Given the description of an element on the screen output the (x, y) to click on. 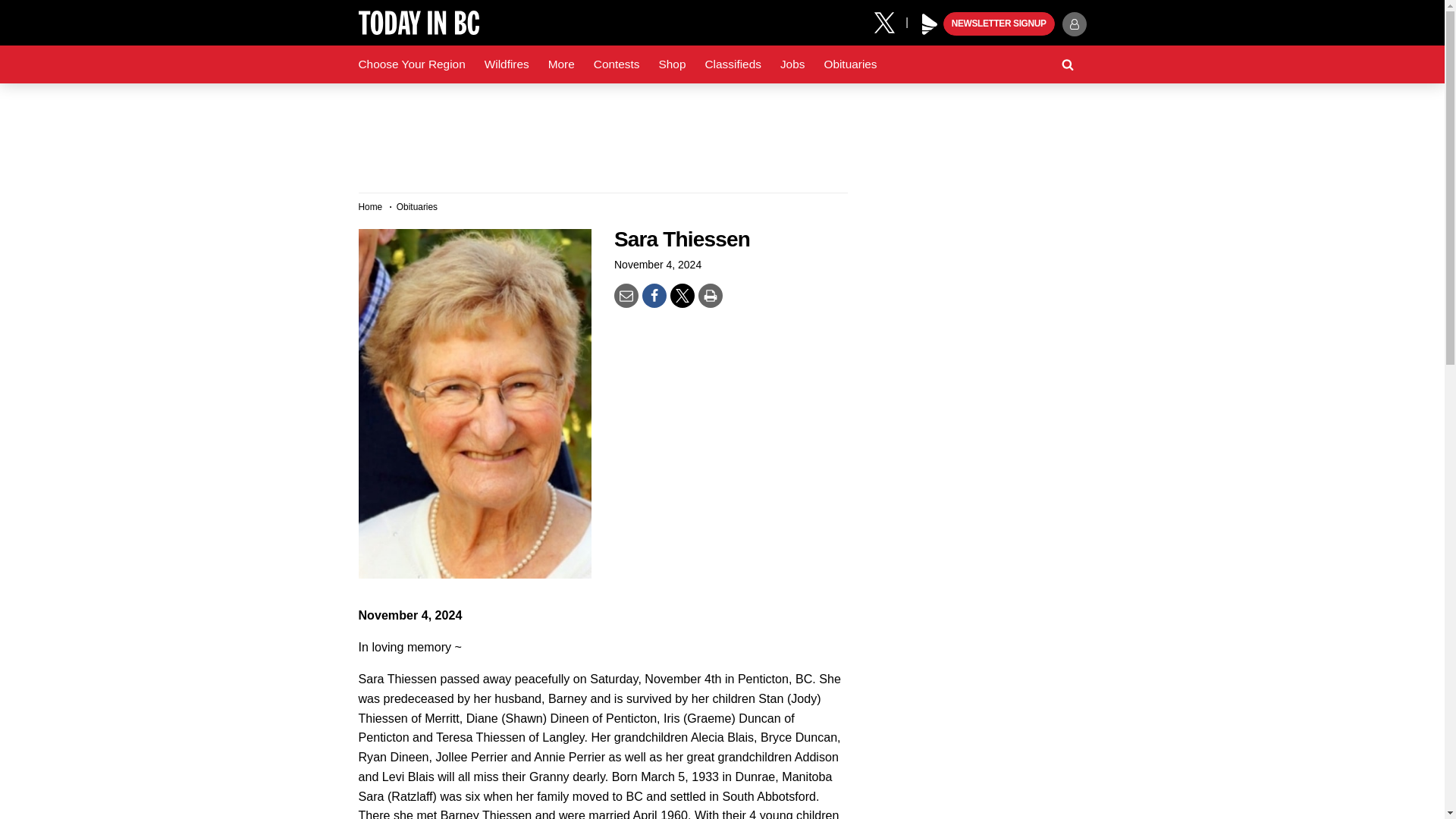
Wildfires (507, 64)
Play (929, 24)
Contests (616, 64)
Black Press Media (929, 24)
NEWSLETTER SIGNUP (998, 24)
X (889, 21)
